Given the description of an element on the screen output the (x, y) to click on. 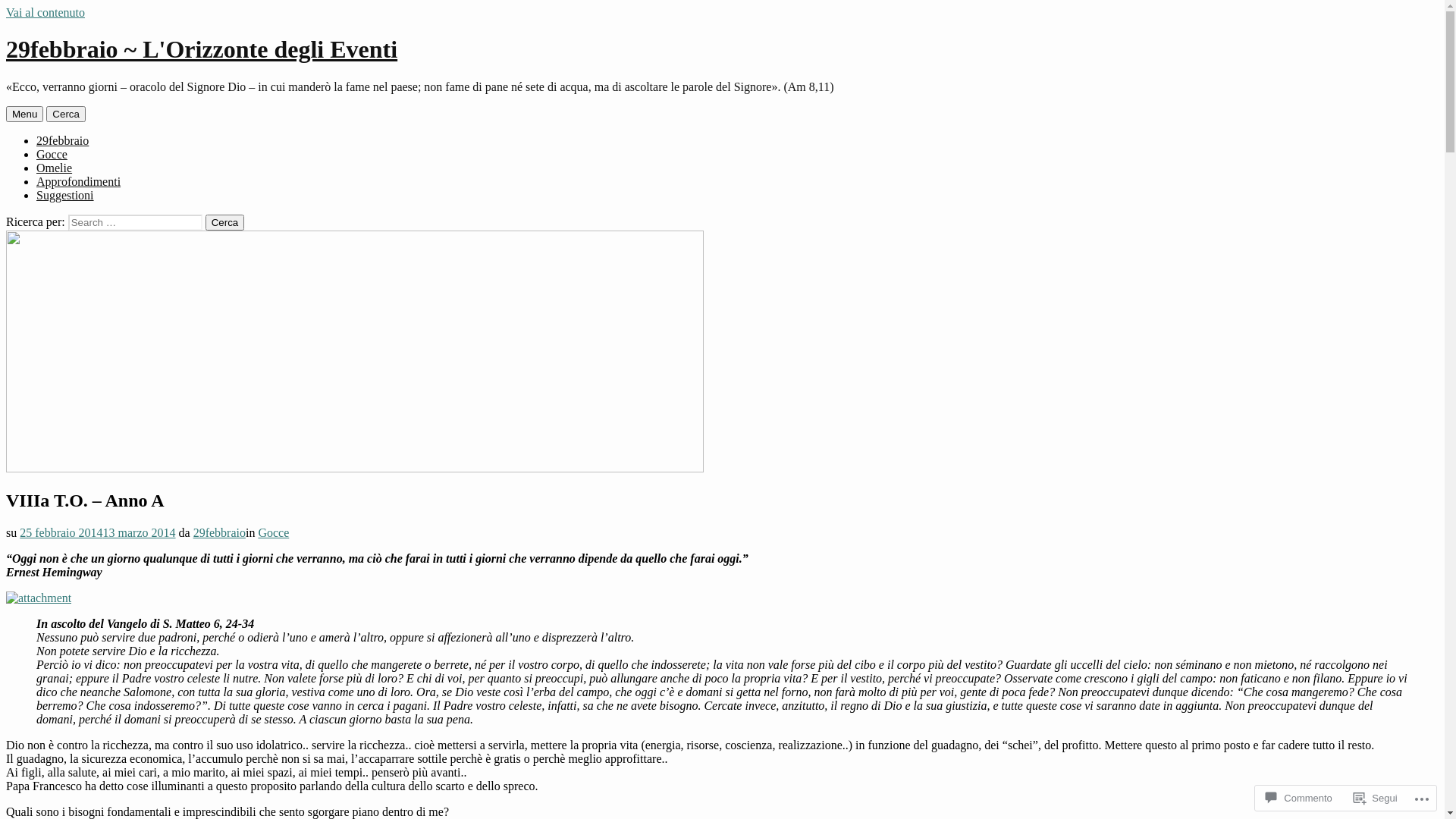
Gocce Element type: text (51, 153)
Cerca Element type: text (65, 114)
29febbraio Element type: text (219, 532)
Commento Element type: text (1298, 797)
Segui Element type: text (1374, 797)
Vai al contenuto Element type: text (45, 12)
Menu Element type: text (24, 114)
29febbraio Element type: text (62, 140)
Suggestioni Element type: text (65, 194)
29febbraio ~ L'Orizzonte degli Eventi Element type: text (201, 48)
Omelie Element type: text (54, 167)
Approfondimenti Element type: text (78, 181)
Cerca Element type: text (224, 222)
Ricerca per: Element type: hover (135, 222)
Gocce Element type: text (272, 532)
25 febbraio 201413 marzo 2014 Element type: text (97, 532)
